Given the description of an element on the screen output the (x, y) to click on. 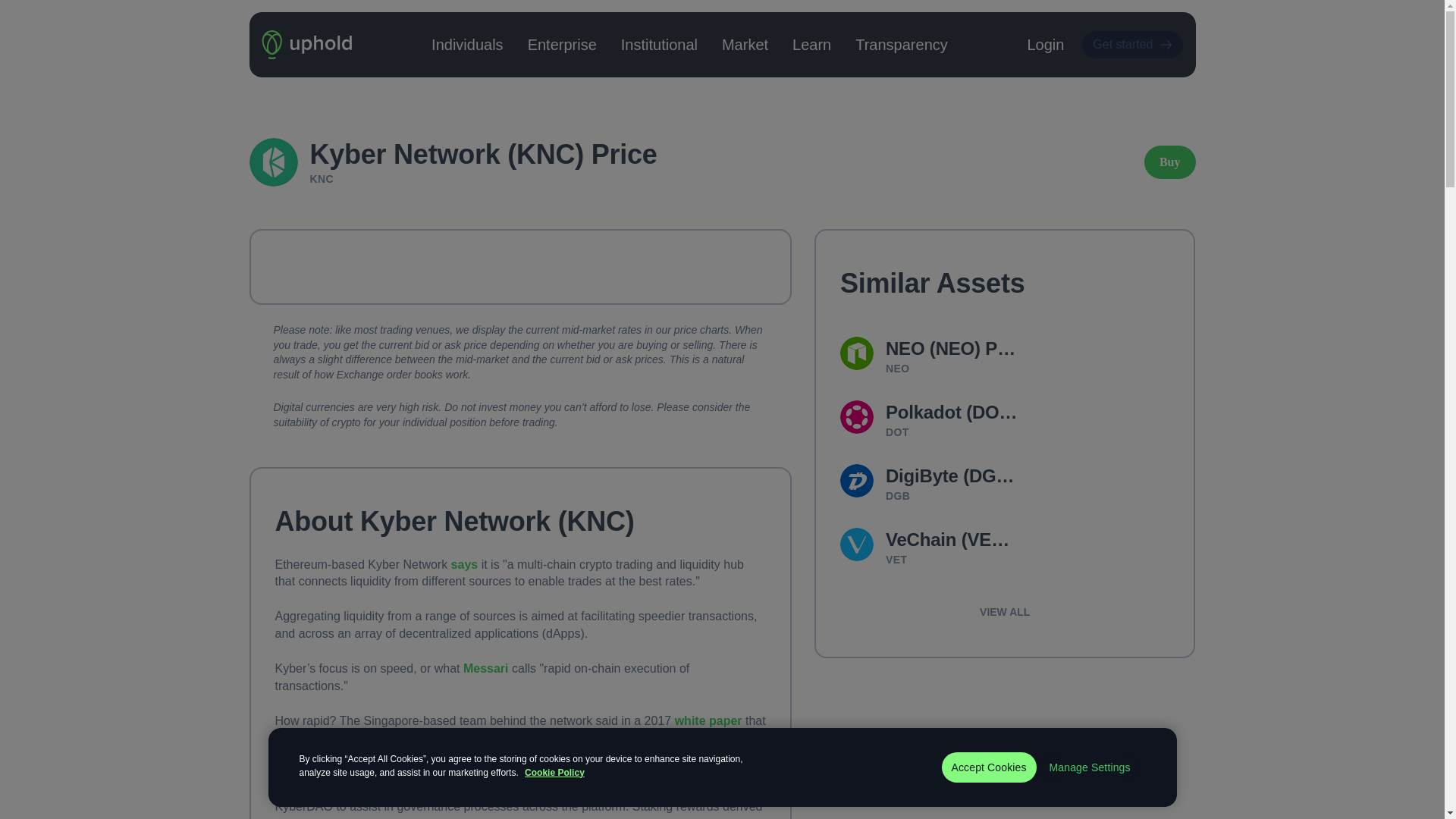
Transparency (901, 44)
VIEW ALL (1004, 611)
Institutional (659, 44)
Buy (1169, 162)
Learn (811, 44)
Messari (485, 668)
Get started (1131, 44)
Enterprise (561, 44)
Market (745, 44)
white paper (708, 720)
Login (1045, 44)
says (465, 564)
Individuals (466, 44)
